Given the description of an element on the screen output the (x, y) to click on. 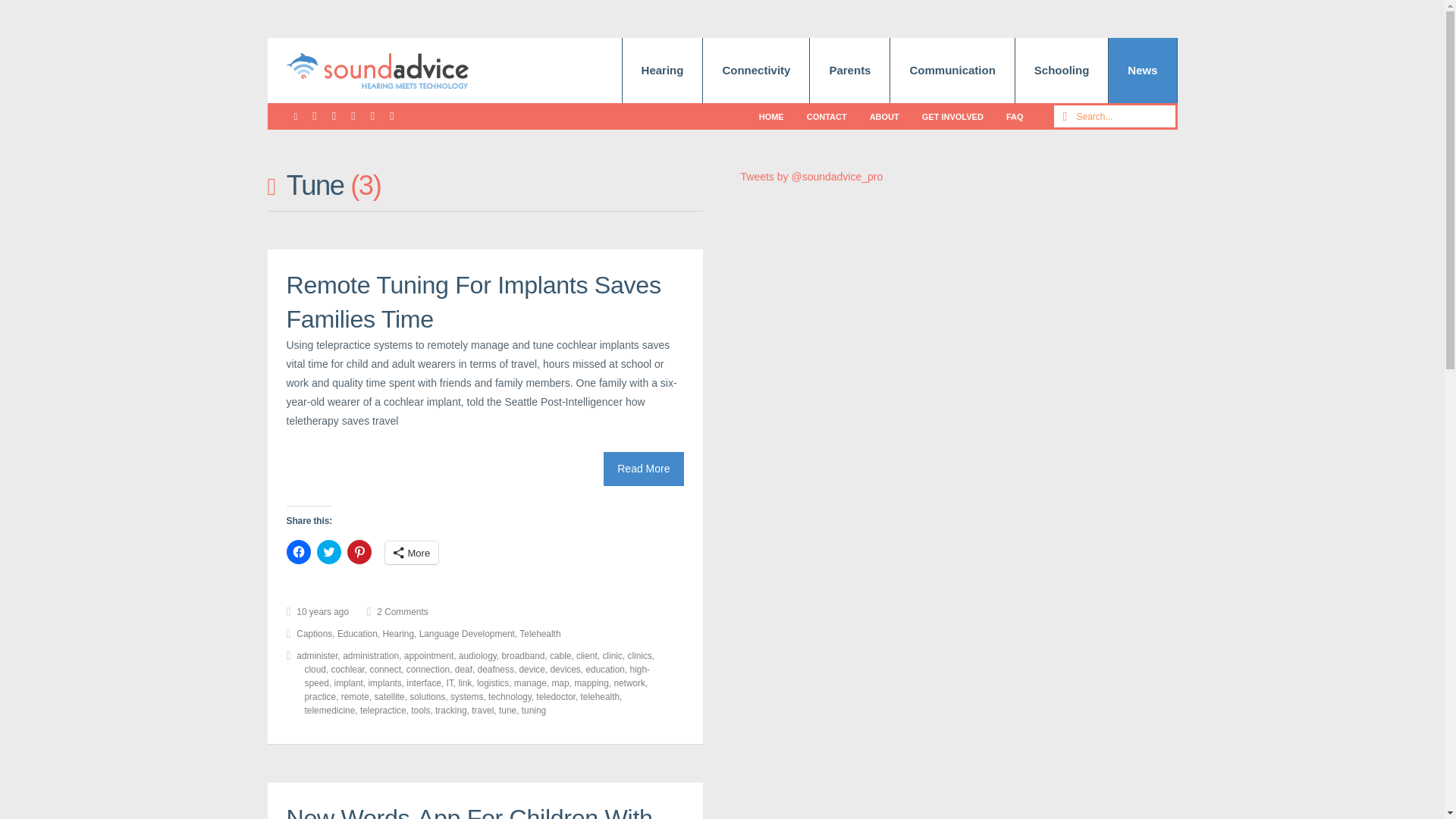
Parents (849, 70)
Hearing (663, 70)
News (1142, 70)
Click to share on Twitter (328, 551)
Click to share on Facebook (298, 551)
Schooling (1061, 70)
Communication (951, 70)
Click to share on Pinterest (359, 551)
Connectivity (756, 70)
HOME (771, 116)
